Given the description of an element on the screen output the (x, y) to click on. 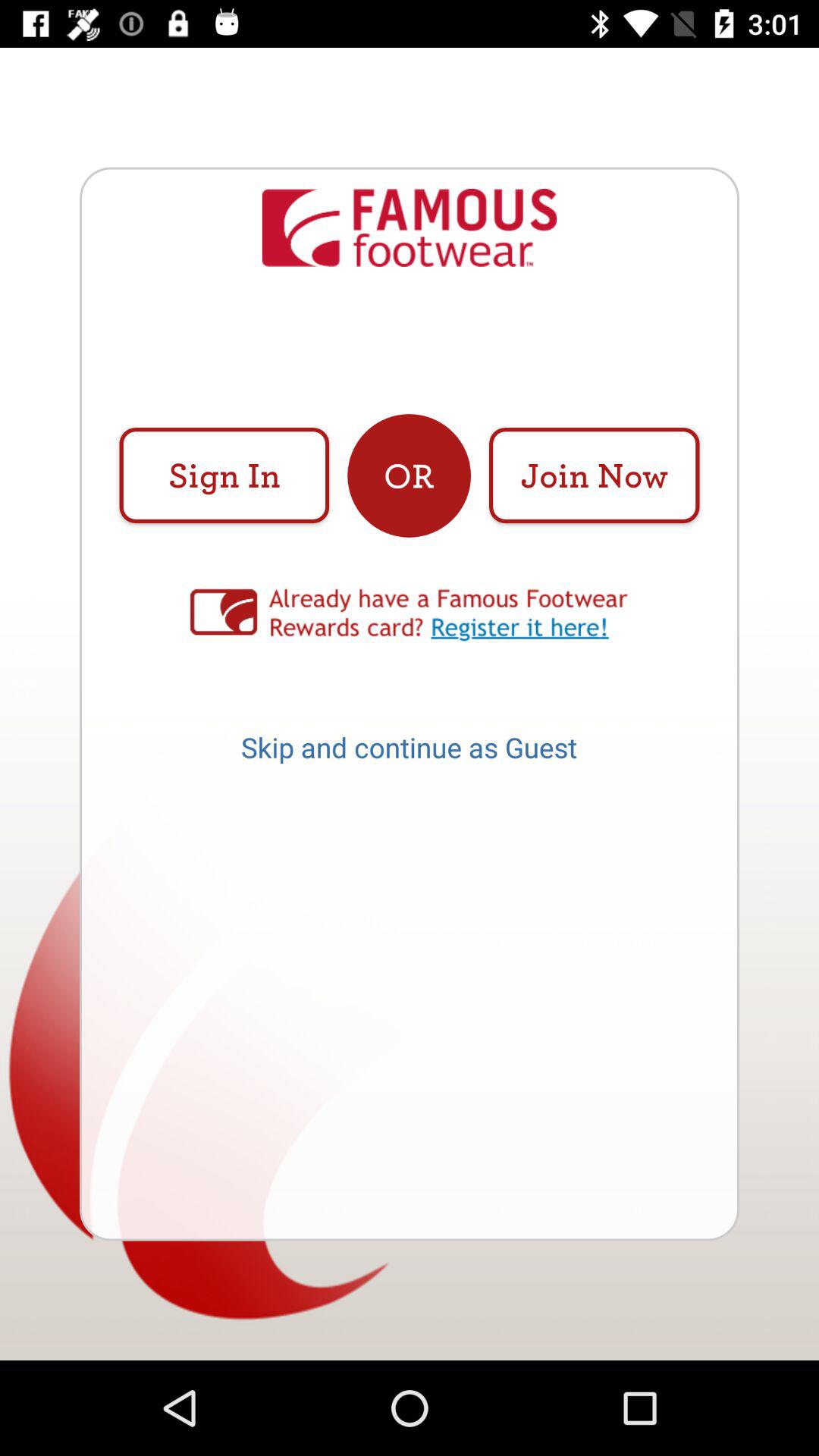
tap the item to the right of the or (594, 475)
